Given the description of an element on the screen output the (x, y) to click on. 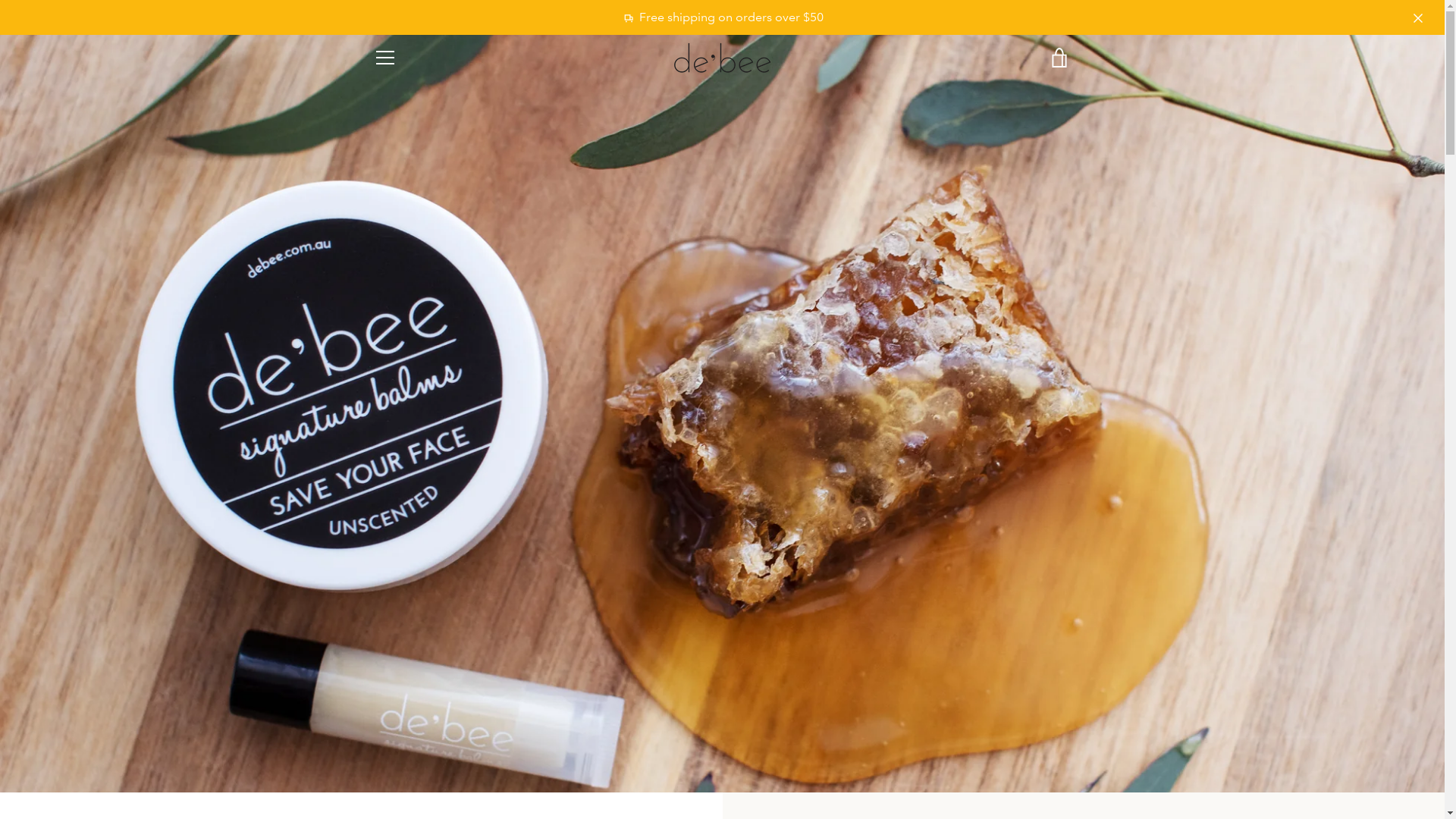
de'bee Element type: text (764, 756)
VIEW CART Element type: text (1059, 57)
WEBSITE TERMS Element type: text (414, 674)
From Little Things Element type: text (737, 776)
CONTACT US Element type: text (406, 585)
TRADING TERMS Element type: text (415, 652)
Facebook Element type: text (372, 765)
MENU Element type: text (384, 57)
CUSTOMER CARE Element type: text (416, 630)
Instagram Element type: text (398, 765)
YouTube Element type: text (424, 765)
PRIVACY POLICY Element type: text (416, 696)
SUBSCRIBE Element type: text (1031, 632)
Free shipping on orders over $50 Element type: text (722, 17)
OUR GROWERS Element type: text (411, 563)
Skip to content Element type: text (0, 0)
SHIPPING & RETURNS Element type: text (428, 607)
